Given the description of an element on the screen output the (x, y) to click on. 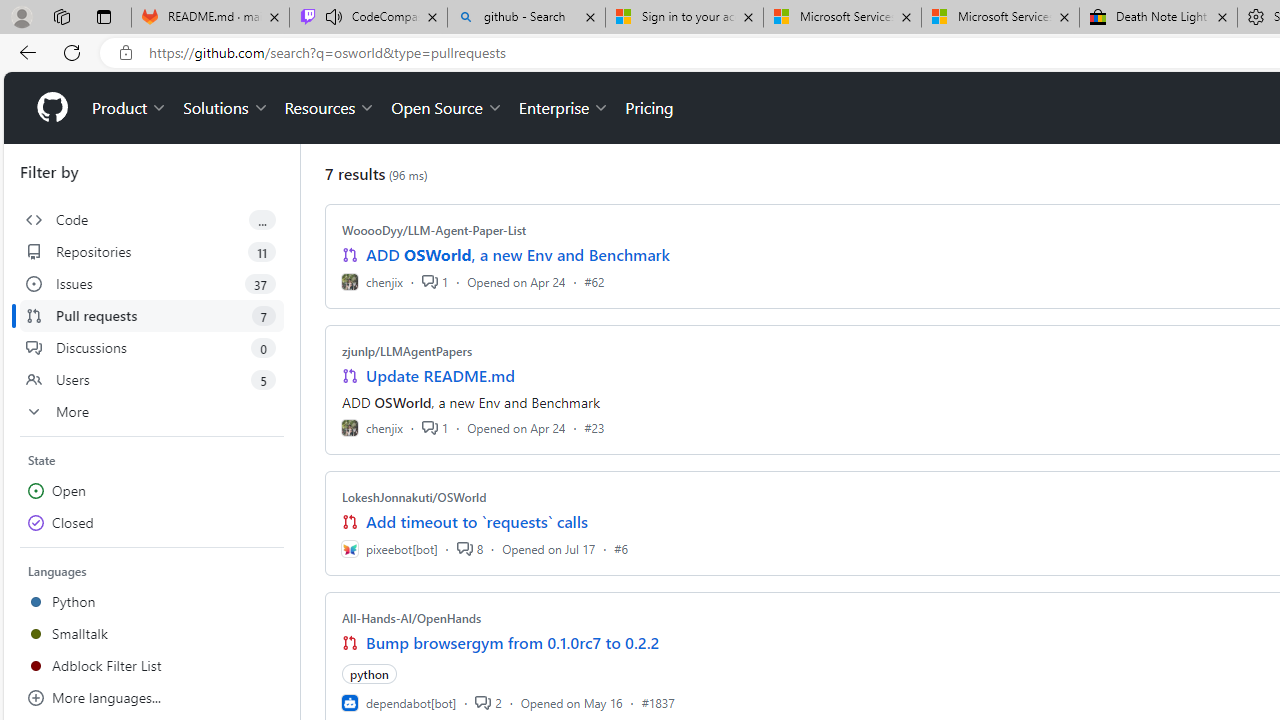
Resources (330, 107)
Open Source (446, 107)
More languages... (152, 697)
1 (435, 427)
Resources (330, 107)
#1837 (657, 702)
#62 (594, 281)
chenjix (372, 427)
pixeebot[bot] (389, 548)
